Given the description of an element on the screen output the (x, y) to click on. 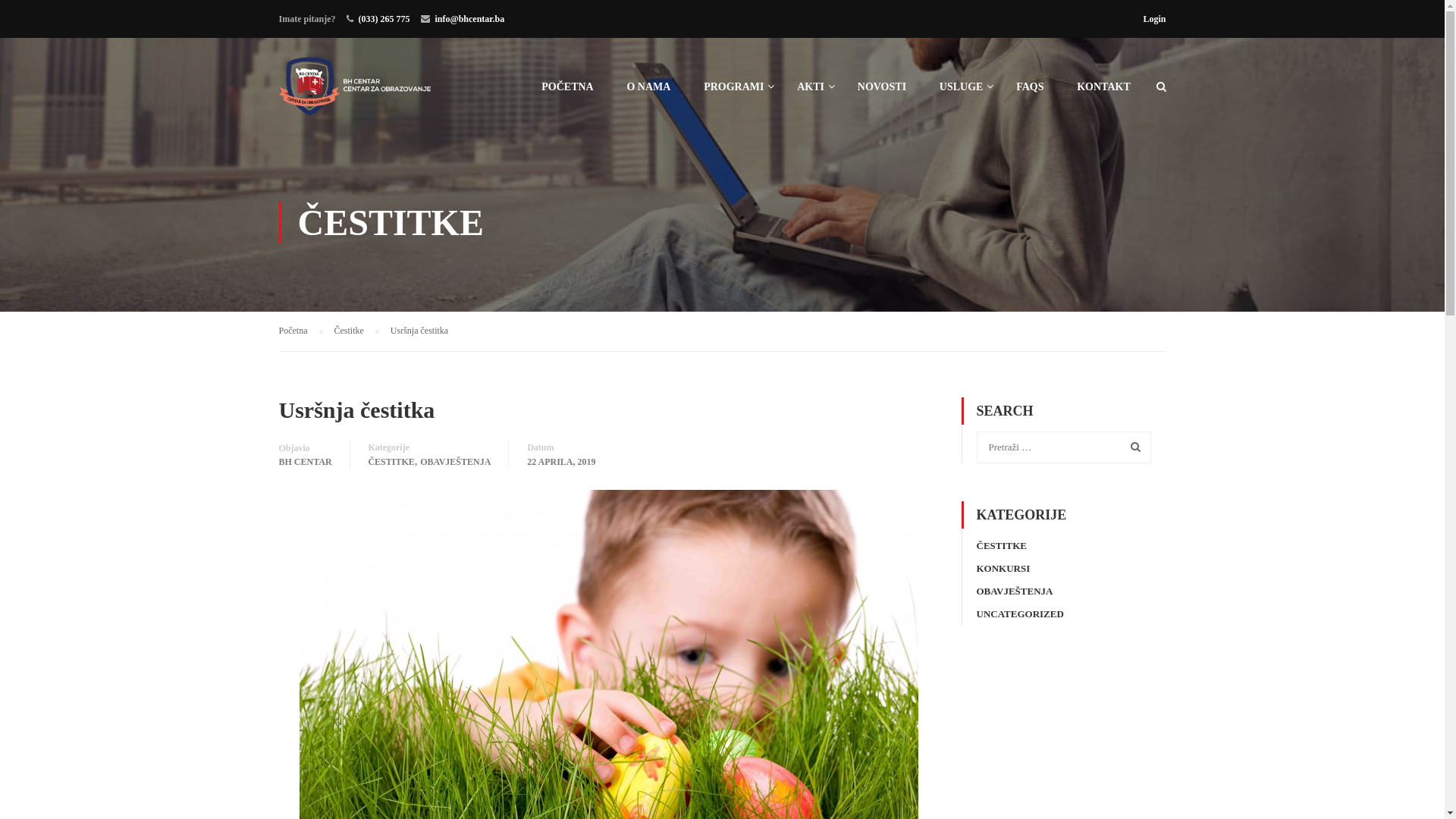
NOVOSTI Element type: text (881, 93)
BH Centar za edukaciju - Odraslih osoba Element type: hover (354, 93)
UNCATEGORIZED Element type: text (1019, 613)
KONTAKT Element type: text (1103, 93)
Pretraga Element type: text (1132, 446)
FAQS Element type: text (1029, 93)
PROGRAMI Element type: text (733, 93)
USLUGE Element type: text (961, 93)
O NAMA Element type: text (648, 93)
info@bhcentar.ba Element type: text (470, 18)
Prijavi se Element type: text (861, 440)
Login Element type: text (1153, 18)
KONKURSI Element type: text (1003, 568)
BH CENTAR Element type: text (305, 461)
(033) 265 775 Element type: text (383, 18)
